Given the description of an element on the screen output the (x, y) to click on. 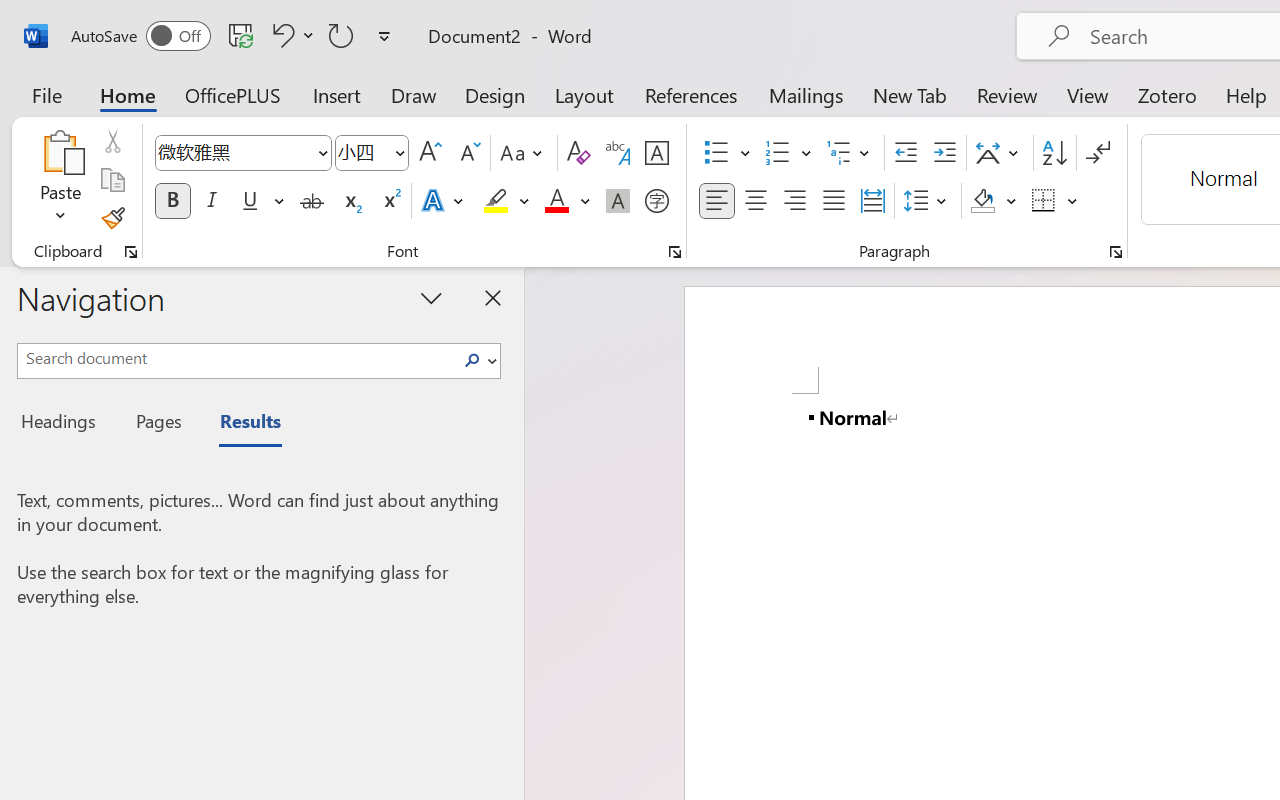
Insert (337, 94)
File Tab (46, 94)
Strikethrough (312, 201)
Zotero (1166, 94)
Borders (1055, 201)
Character Border (656, 153)
Numbering (778, 153)
Review (1007, 94)
Font (242, 153)
Text Highlight Color (506, 201)
References (690, 94)
Font Color (567, 201)
Results (240, 424)
Task Pane Options (431, 297)
Align Left (716, 201)
